Given the description of an element on the screen output the (x, y) to click on. 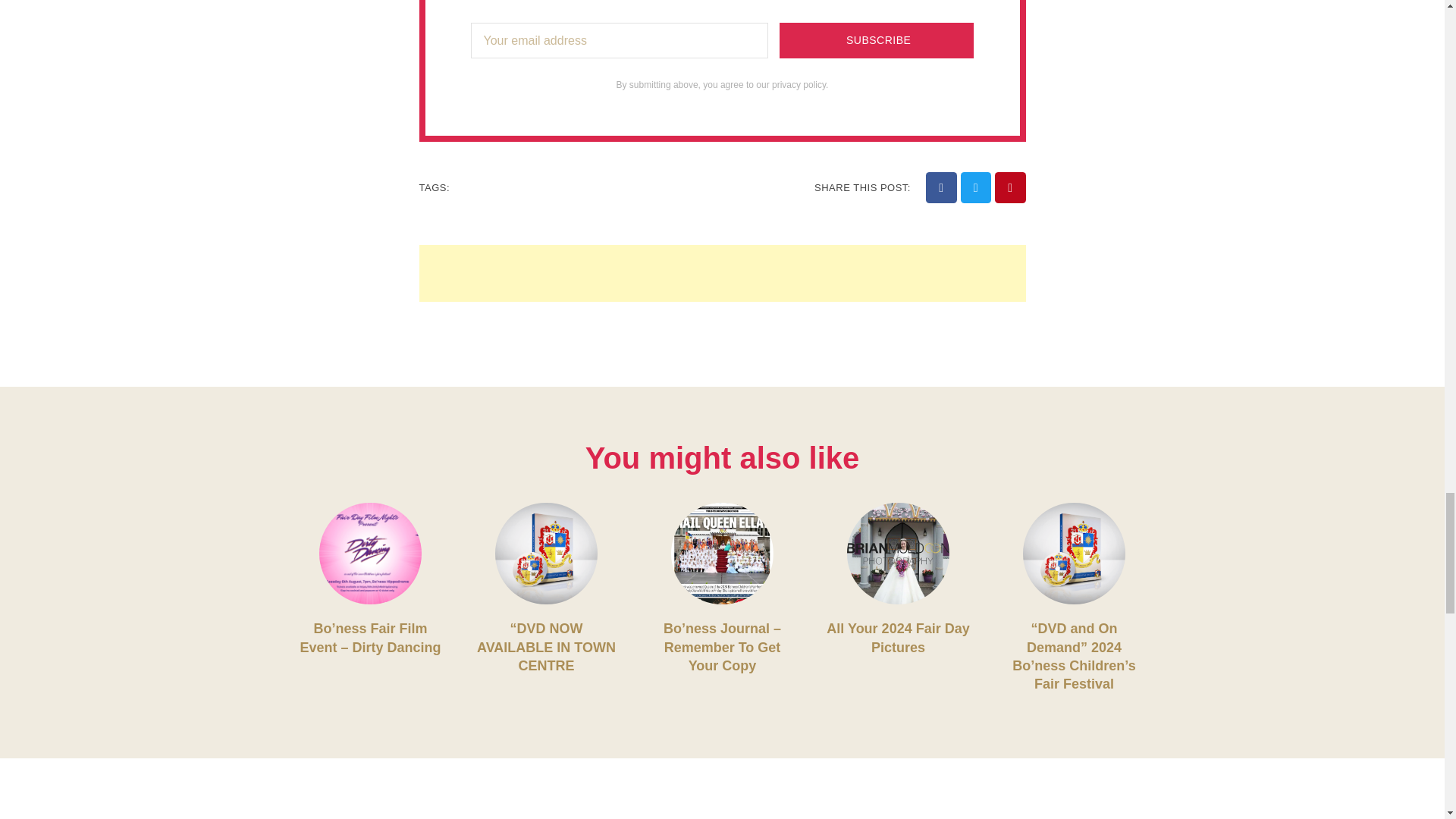
SUBSCRIBE (876, 40)
